Given the description of an element on the screen output the (x, y) to click on. 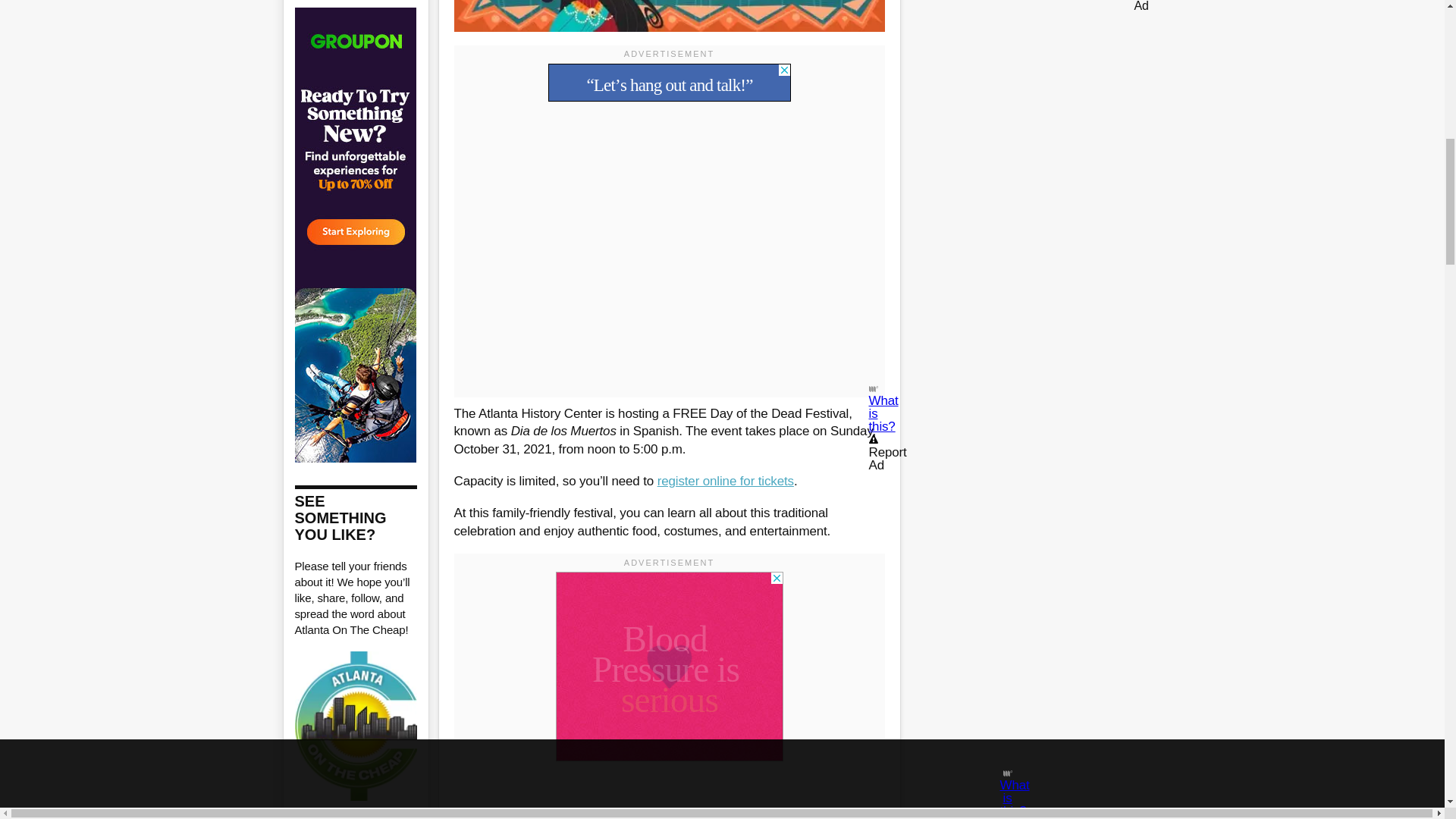
3rd party ad content (668, 82)
3rd party ad content (668, 666)
